Given the description of an element on the screen output the (x, y) to click on. 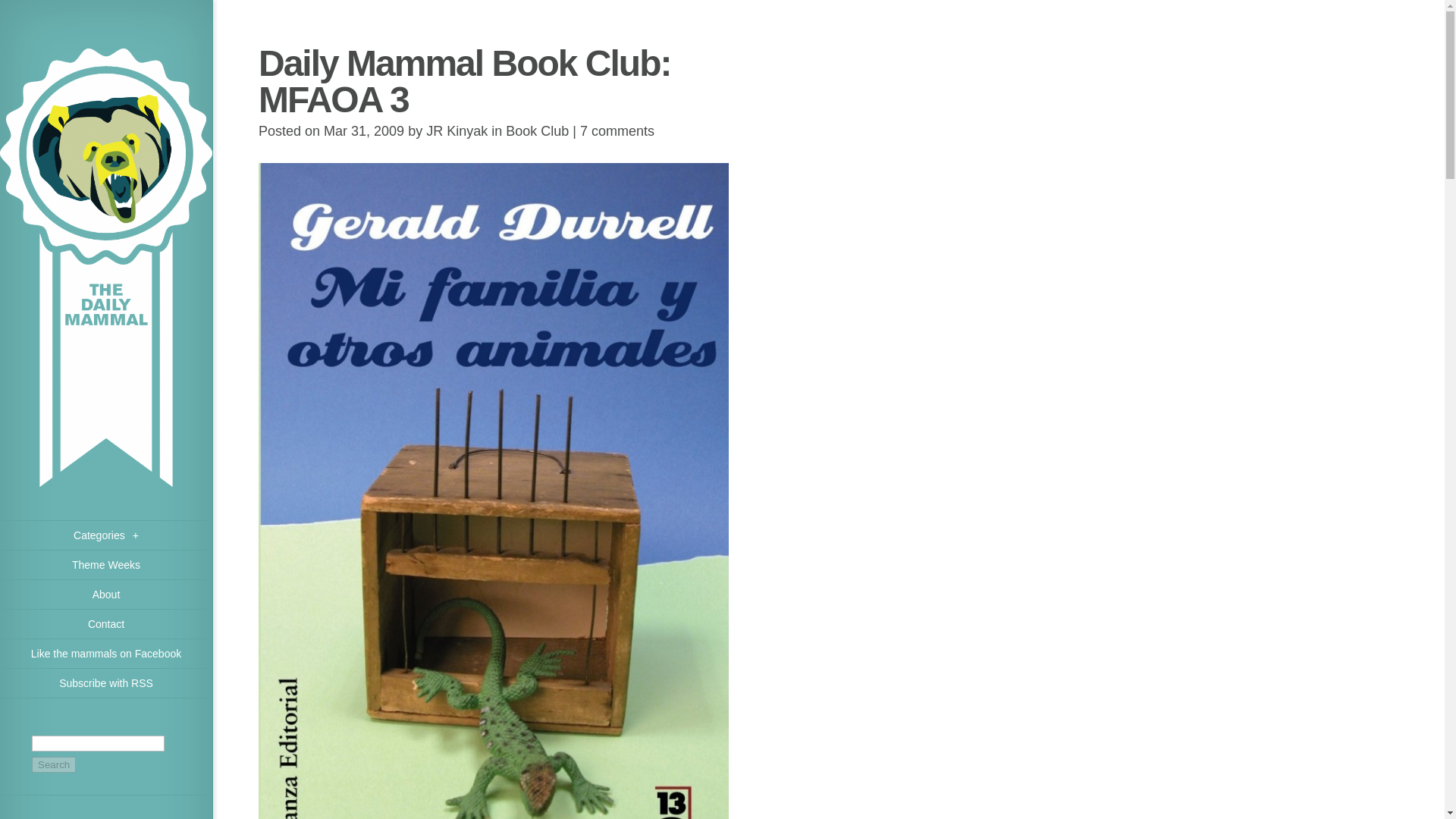
About (106, 594)
Contact (106, 624)
Posts by JR Kinyak (456, 130)
7 comments (616, 130)
JR Kinyak (456, 130)
Search (53, 764)
Like the mammals on Facebook (106, 654)
Theme Weeks (106, 564)
Book Club (537, 130)
Subscribe with RSS (106, 683)
Search (53, 764)
